Given the description of an element on the screen output the (x, y) to click on. 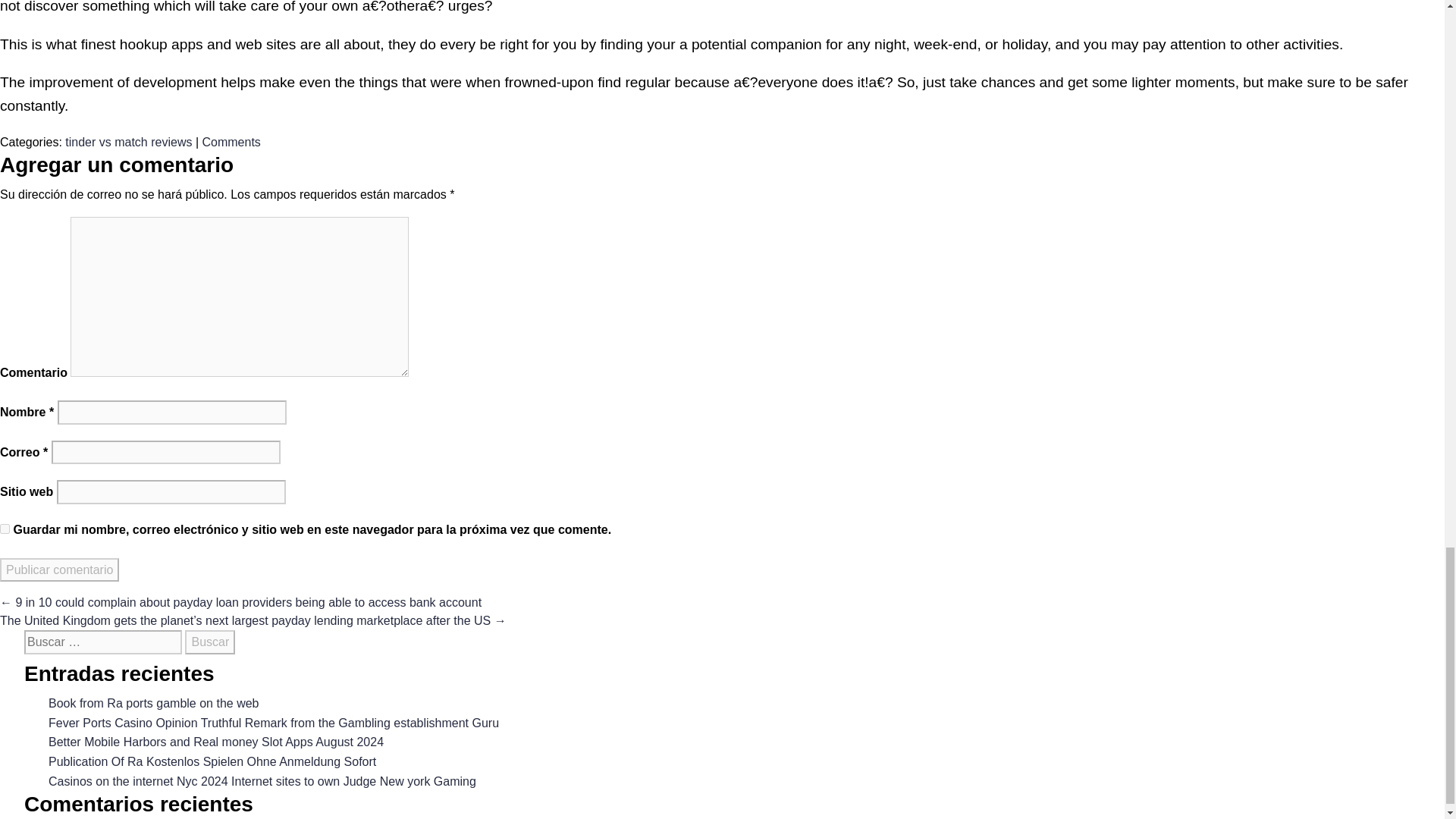
Publicar comentario (59, 569)
Comments (231, 141)
Publicar comentario (59, 569)
Buscar (209, 641)
Buscar (209, 641)
Better Mobile Harbors and Real money Slot Apps August 2024 (216, 741)
yes (5, 528)
Book from Ra ports gamble on the web (153, 703)
Buscar (209, 641)
